Given the description of an element on the screen output the (x, y) to click on. 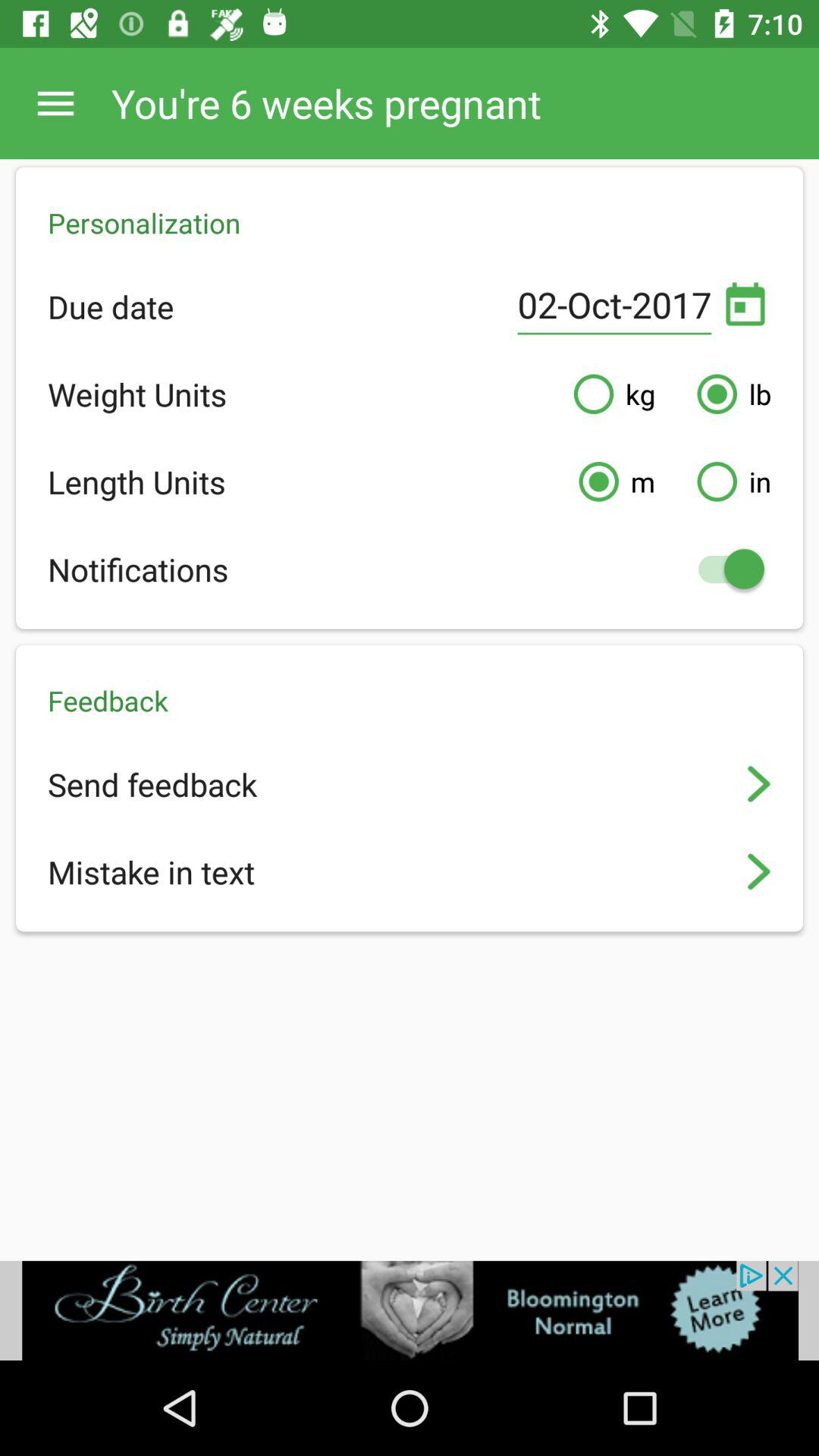
toggle notifications (723, 569)
